Given the description of an element on the screen output the (x, y) to click on. 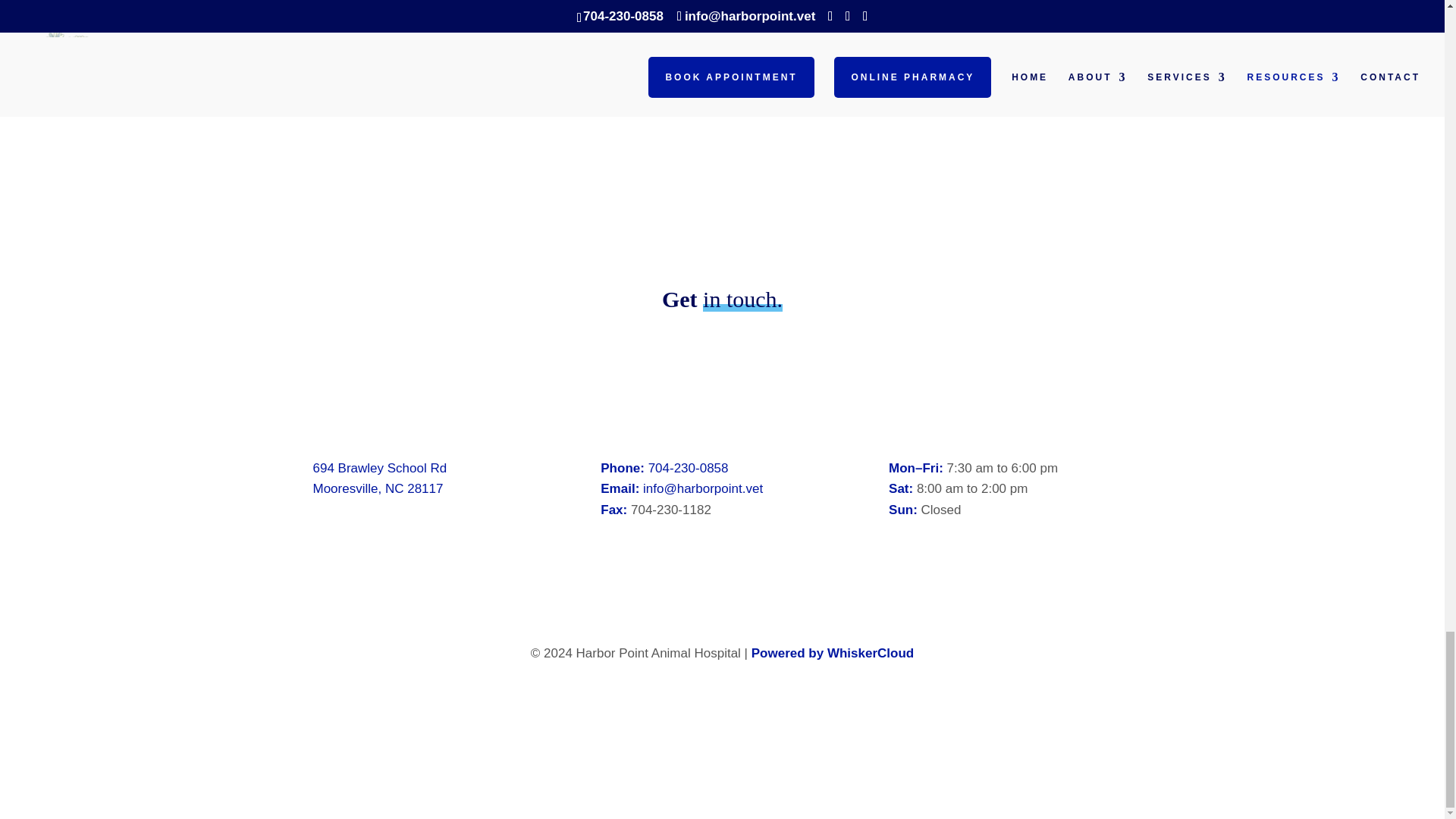
Follow on Facebook (706, 698)
Follow on Instagram (737, 698)
